Given the description of an element on the screen output the (x, y) to click on. 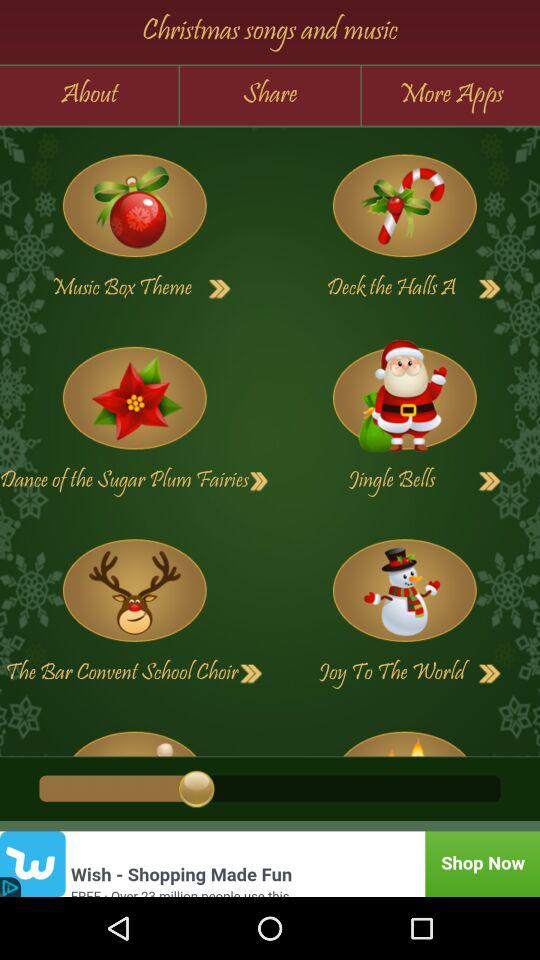
select this song (404, 590)
